Given the description of an element on the screen output the (x, y) to click on. 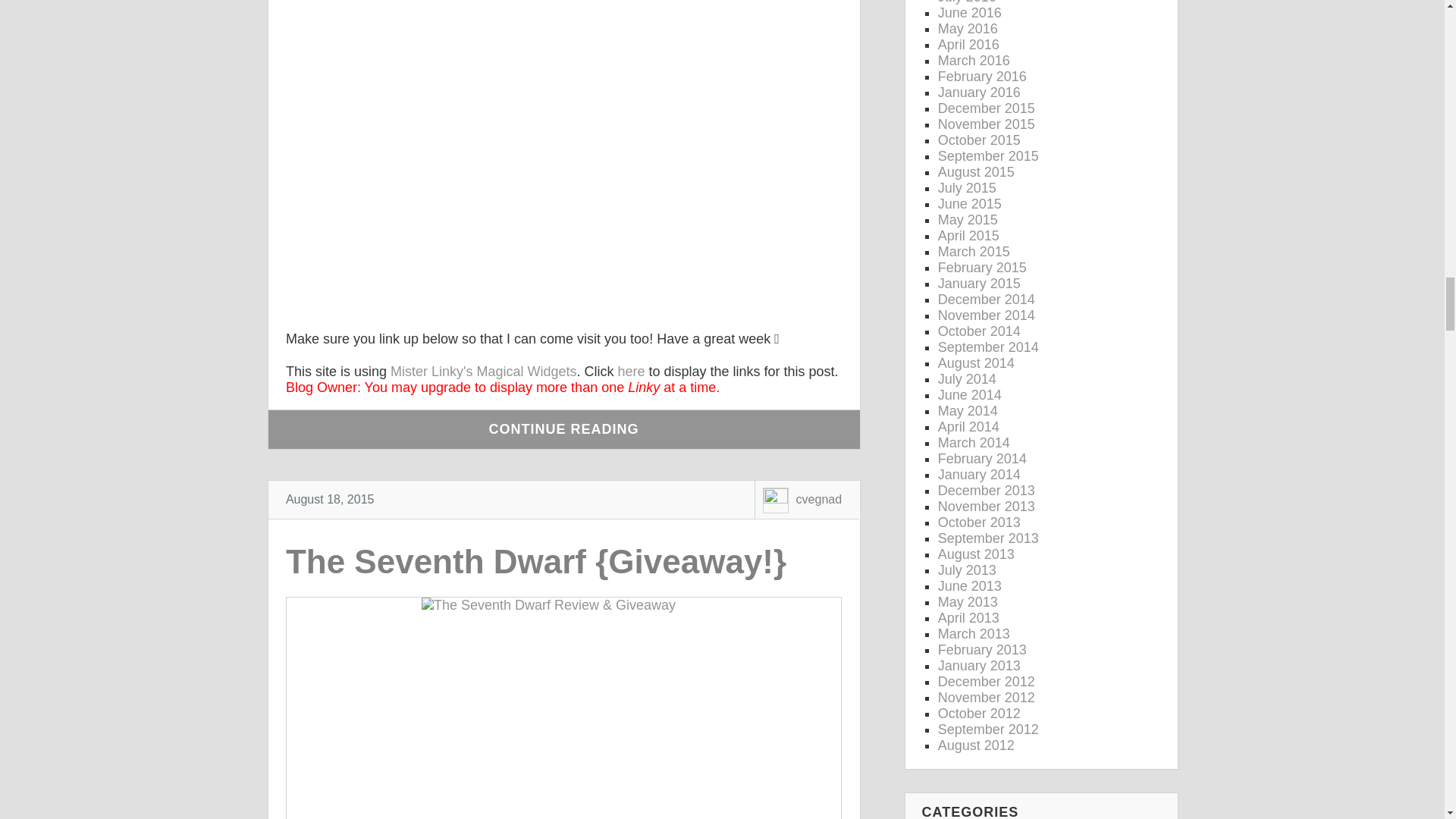
cvegnad (819, 499)
CONTINUE READING (563, 428)
upgrade (445, 387)
Mister Linky's Magical Widgets (483, 371)
here (631, 371)
